Given the description of an element on the screen output the (x, y) to click on. 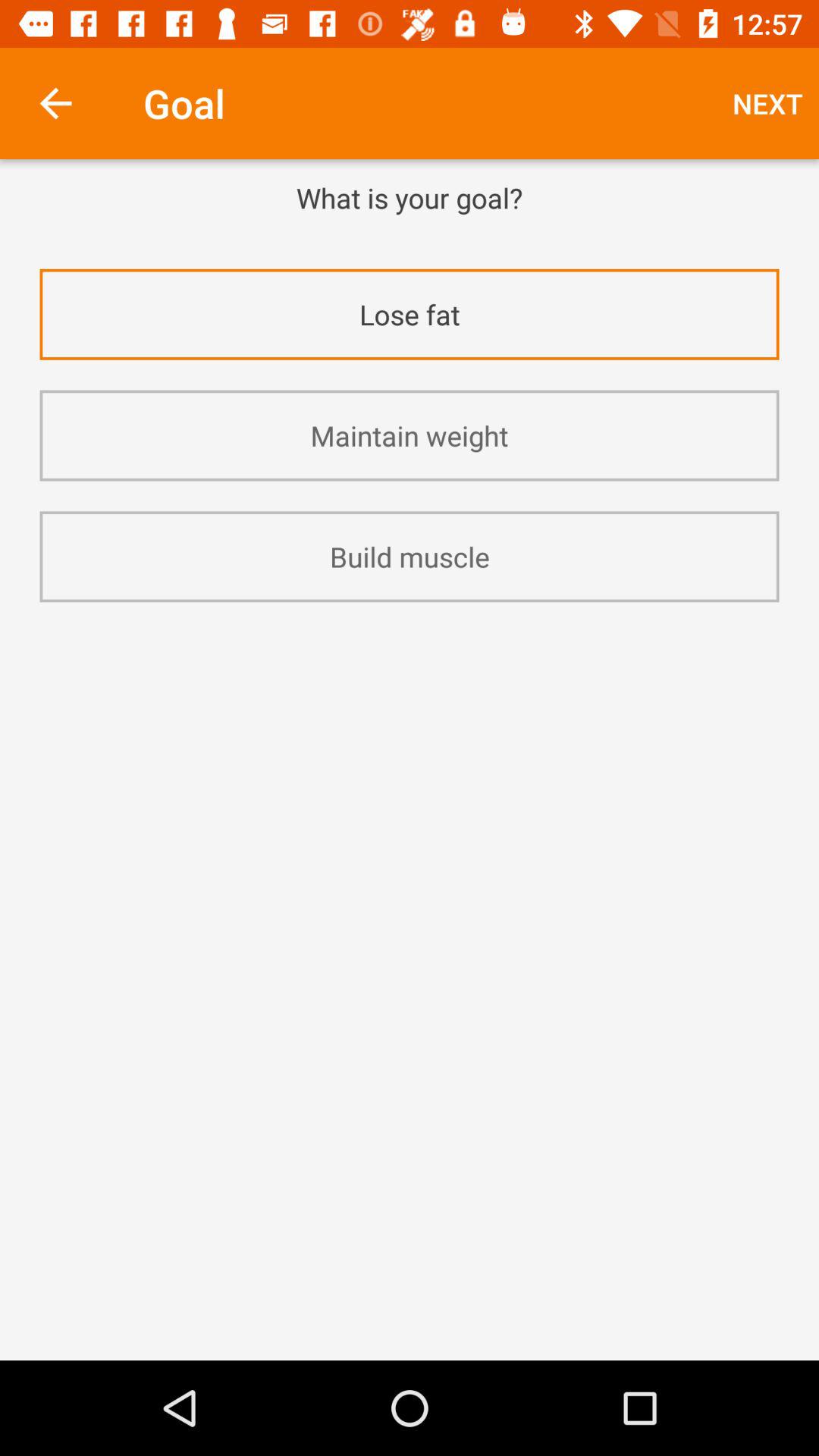
jump until the what is your (409, 197)
